Given the description of an element on the screen output the (x, y) to click on. 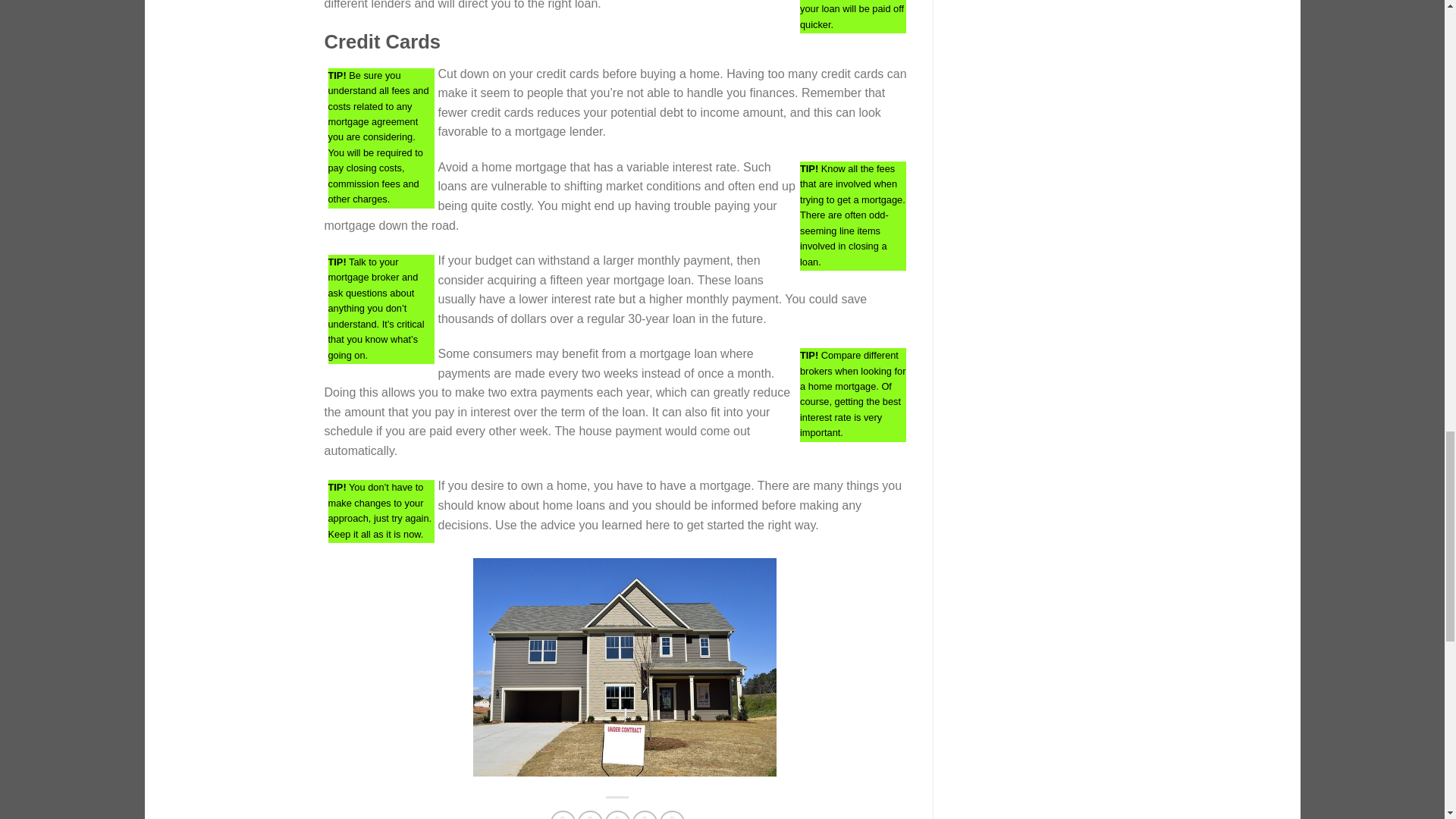
Pin on Pinterest (644, 814)
Email to a Friend (617, 814)
Share on Twitter (590, 814)
Share on LinkedIn (671, 814)
Share on Facebook (562, 814)
